Given the description of an element on the screen output the (x, y) to click on. 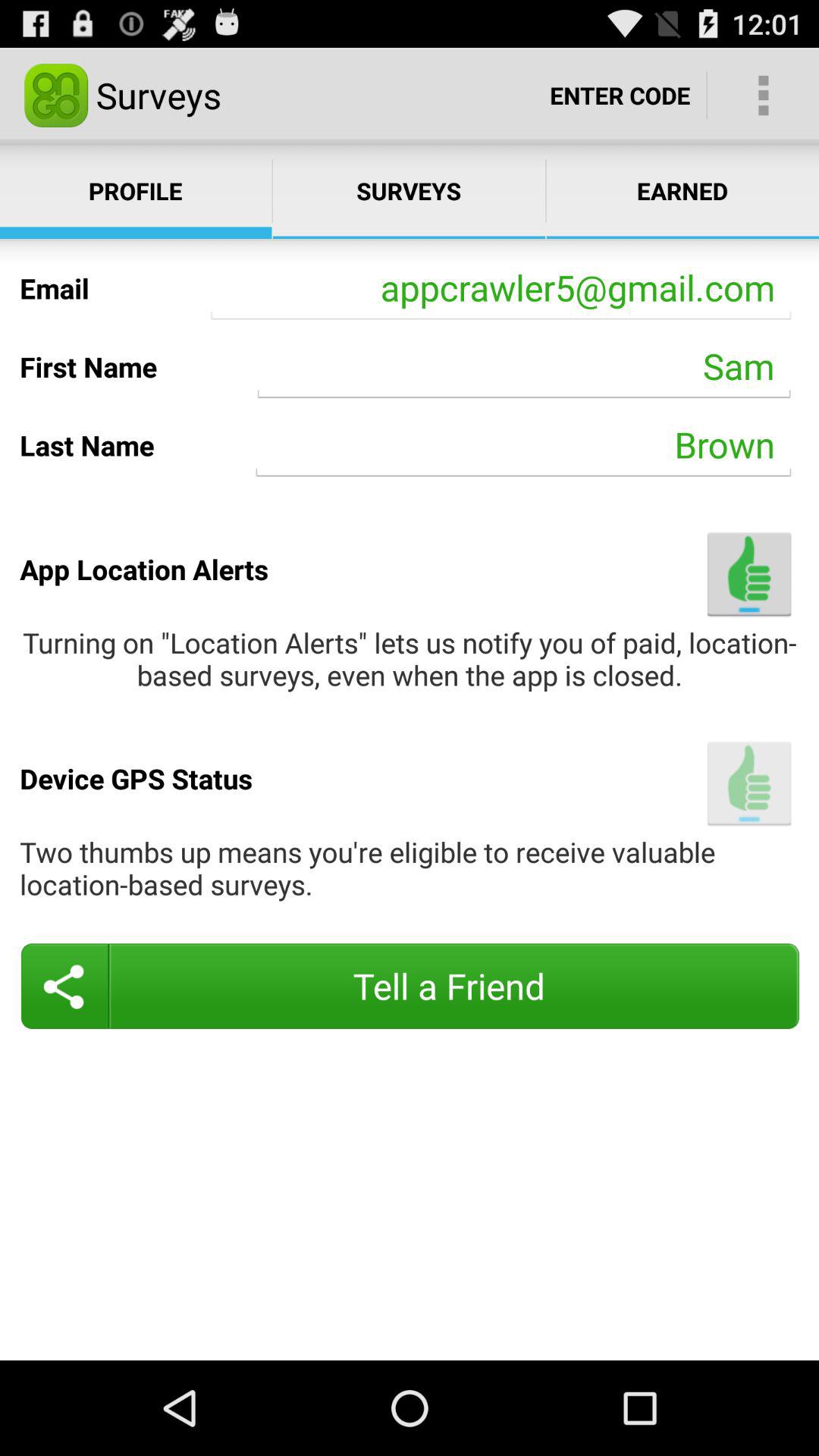
turn on the item above the turning on location icon (749, 573)
